Given the description of an element on the screen output the (x, y) to click on. 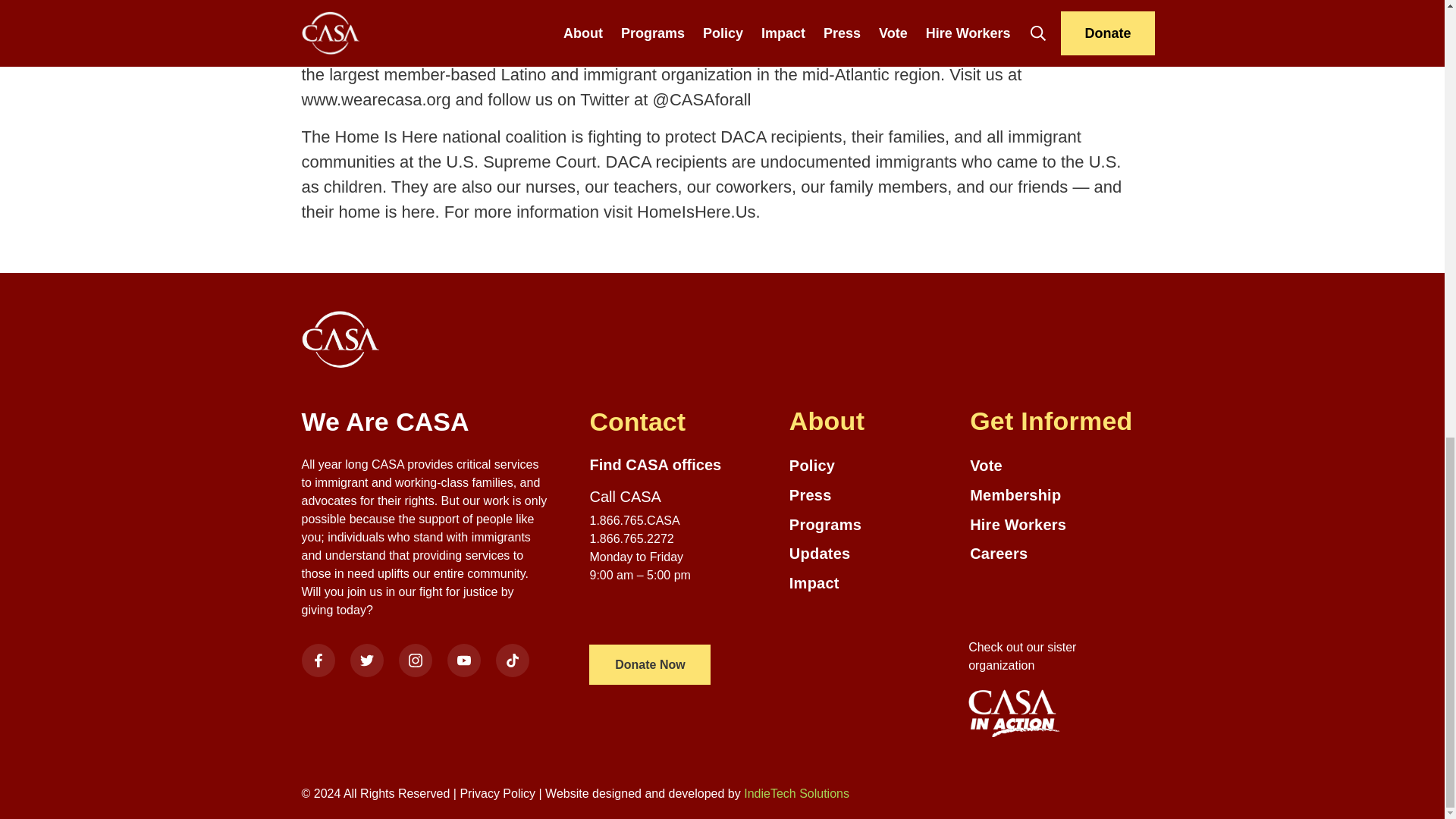
Updates (872, 553)
Programs (872, 525)
Find CASA offices (654, 464)
Contact (673, 421)
Policy (872, 465)
Press (872, 495)
We Are CASA (424, 421)
About (872, 420)
Impact (872, 583)
